Given the description of an element on the screen output the (x, y) to click on. 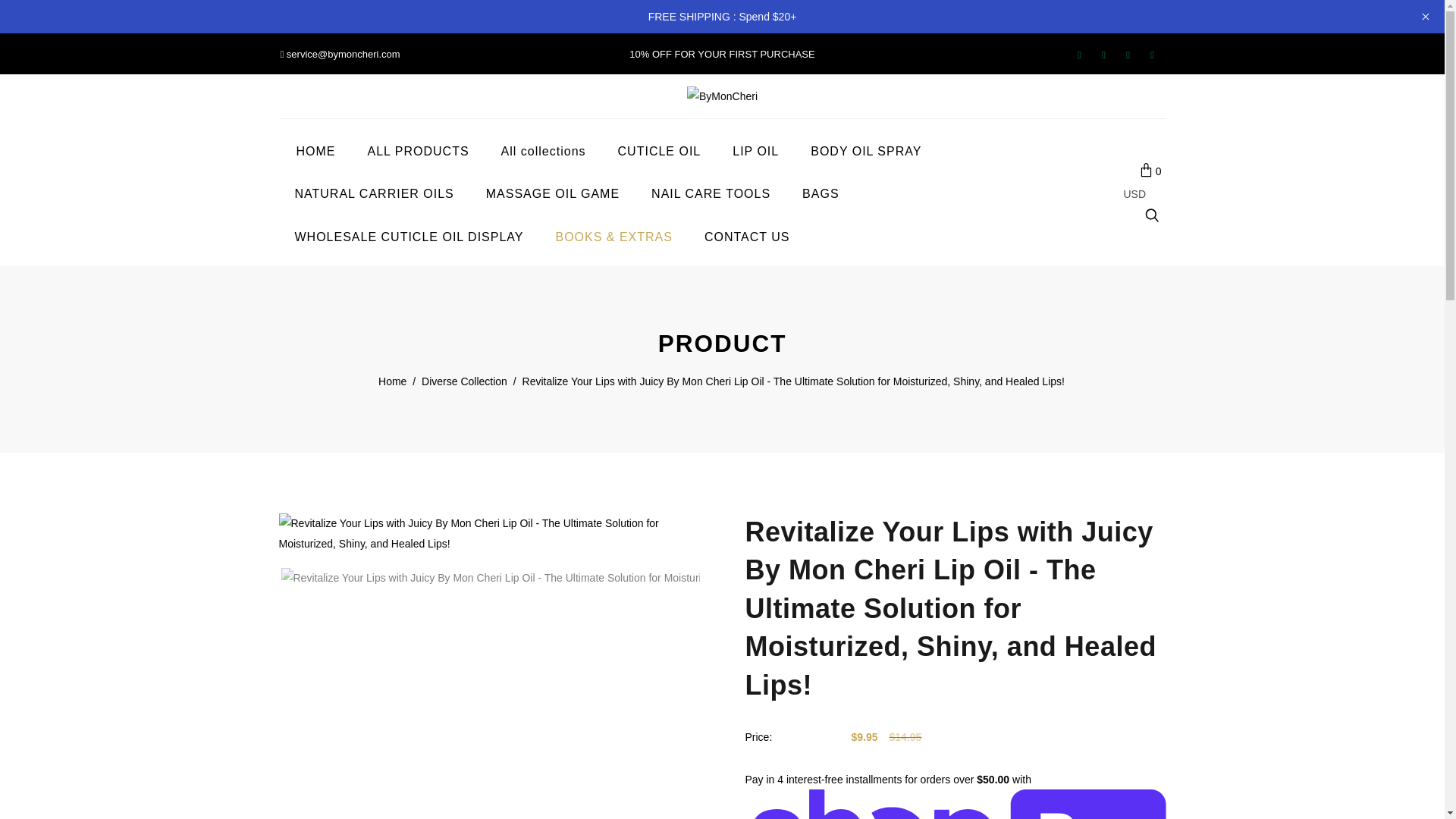
BODY OIL SPRAY (865, 151)
Facebook (1103, 54)
Twitter (1078, 54)
ByMonCheri (722, 95)
All collections (543, 151)
Twitter (1078, 54)
LIP OIL (755, 151)
Instagram (1151, 54)
Back to the frontpage (392, 381)
Instagram (1151, 54)
CUTICLE OIL (659, 151)
Facebook (1103, 54)
Pinterest (1127, 54)
ALL PRODUCTS (417, 151)
